Given the description of an element on the screen output the (x, y) to click on. 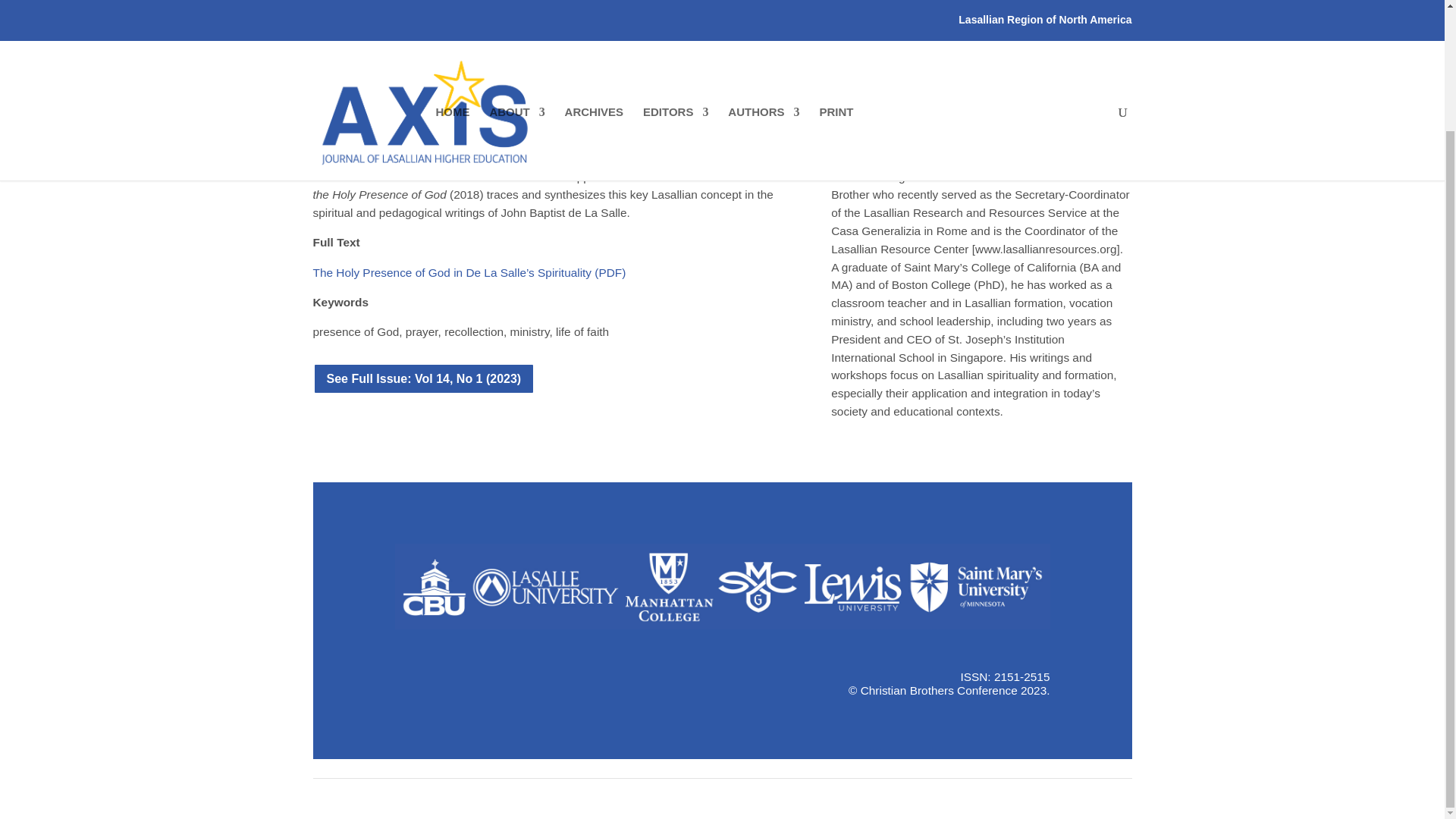
Footer-hi-res (721, 586)
